Given the description of an element on the screen output the (x, y) to click on. 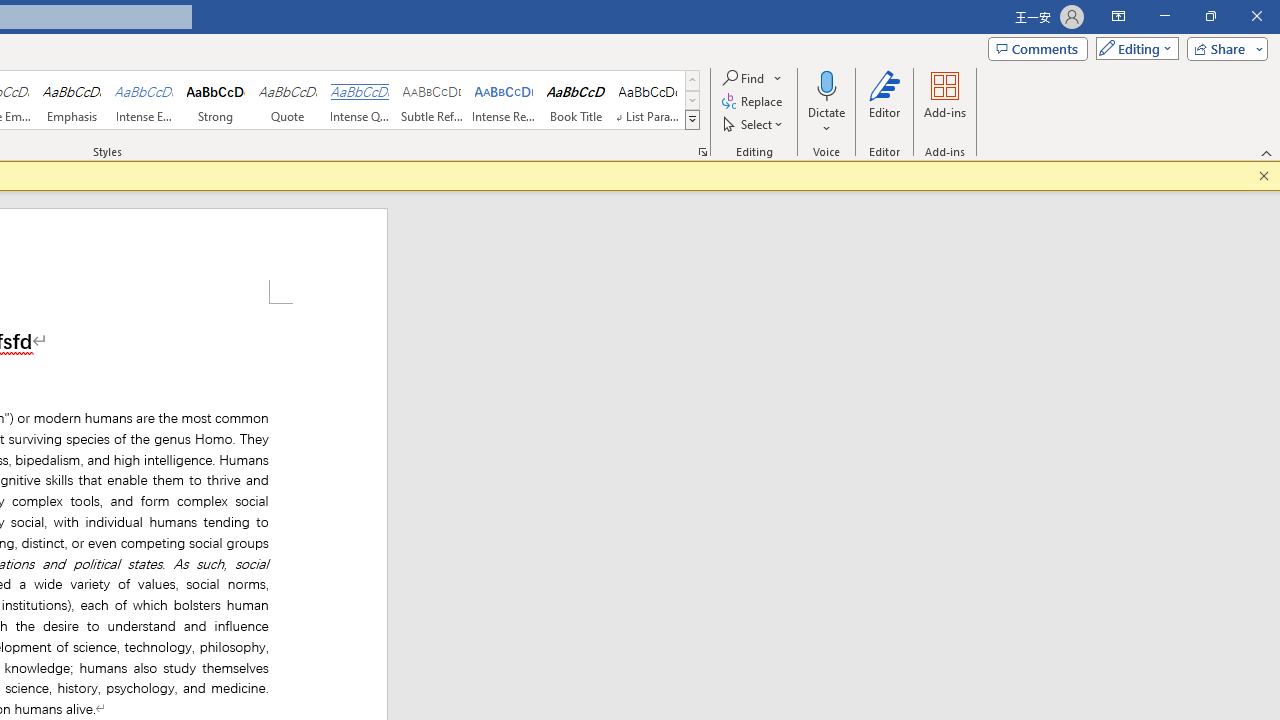
Emphasis (71, 100)
Intense Quote (359, 100)
Strong (216, 100)
Subtle Reference (431, 100)
Book Title (575, 100)
